Given the description of an element on the screen output the (x, y) to click on. 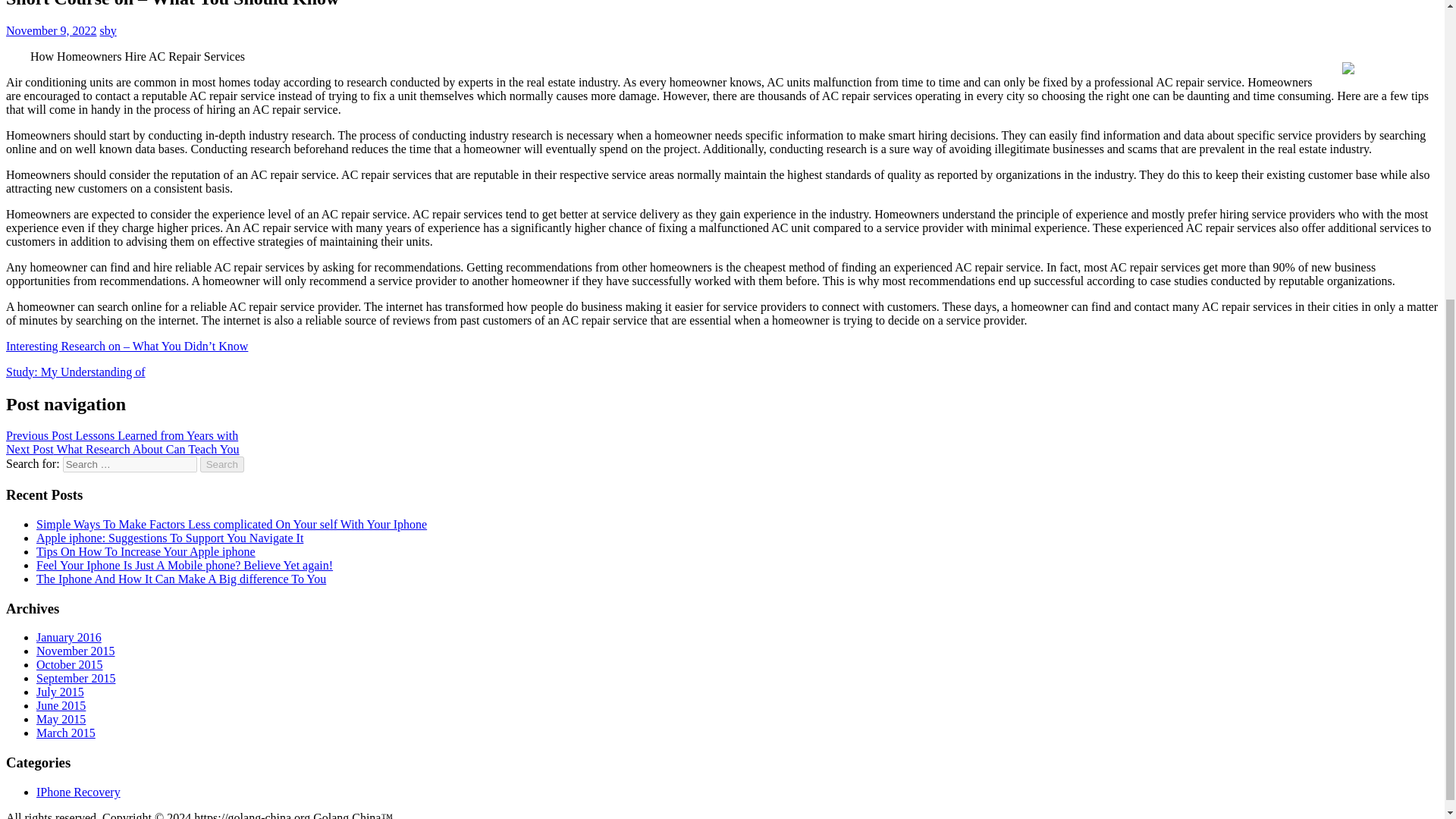
May 2015 (60, 718)
Study: My Understanding of (75, 371)
Search (222, 464)
sby (108, 30)
March 2015 (66, 732)
July 2015 (60, 691)
Next Post What Research About Can Teach You (122, 449)
November 2015 (75, 650)
November 9, 2022 (51, 30)
Search (222, 464)
Apple iphone: Suggestions To Support You Navigate It (169, 537)
The Iphone And How It Can Make A Big difference To You (181, 578)
Tips On How To Increase Your Apple iphone (146, 551)
IPhone Recovery (78, 791)
Feel Your Iphone Is Just A Mobile phone? Believe Yet again! (184, 564)
